Given the description of an element on the screen output the (x, y) to click on. 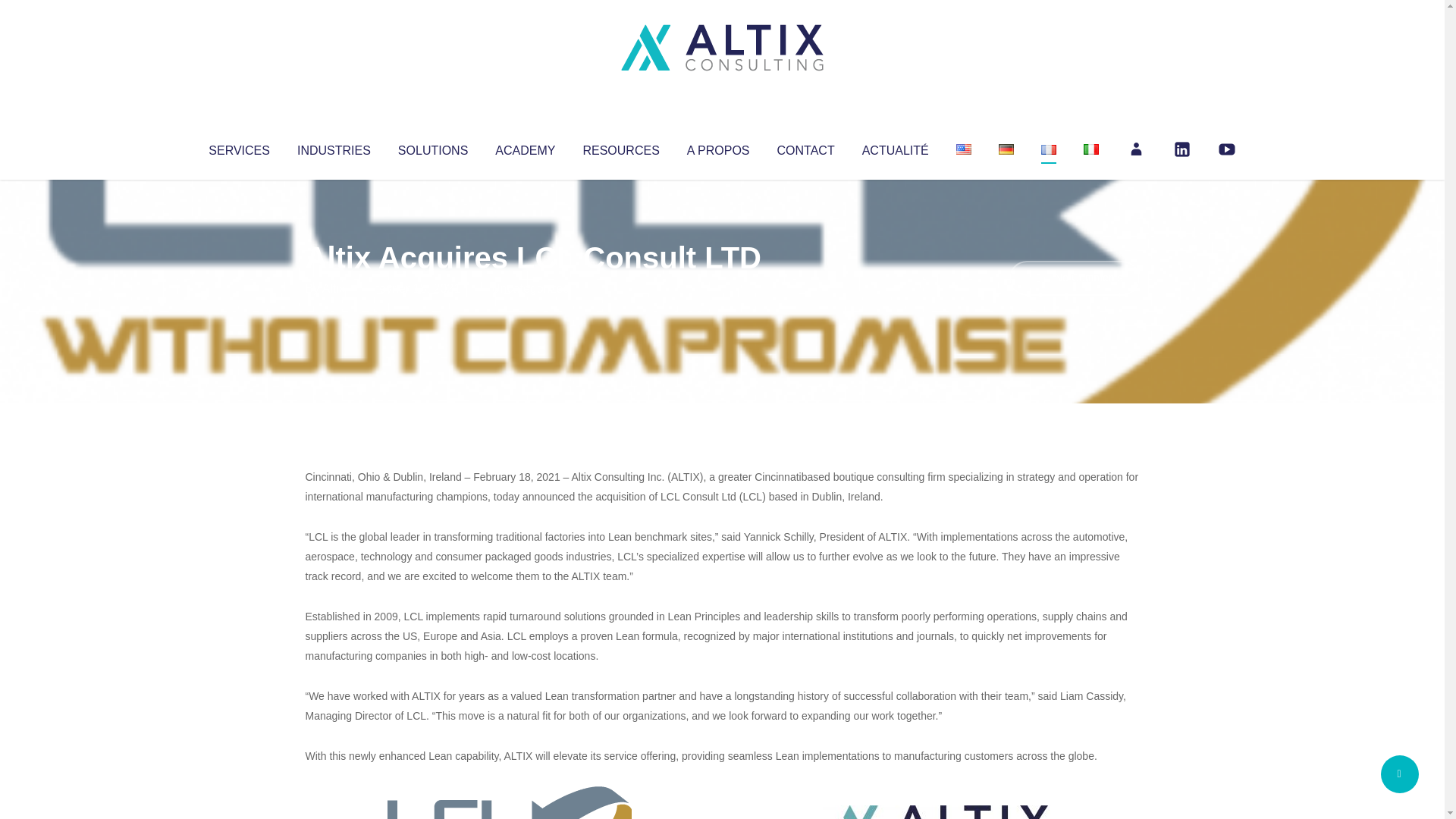
SOLUTIONS (432, 146)
ACADEMY (524, 146)
No Comments (1073, 278)
Uncategorized (530, 287)
Articles par Altix (333, 287)
Altix (333, 287)
A PROPOS (718, 146)
RESOURCES (620, 146)
INDUSTRIES (334, 146)
SERVICES (238, 146)
